Given the description of an element on the screen output the (x, y) to click on. 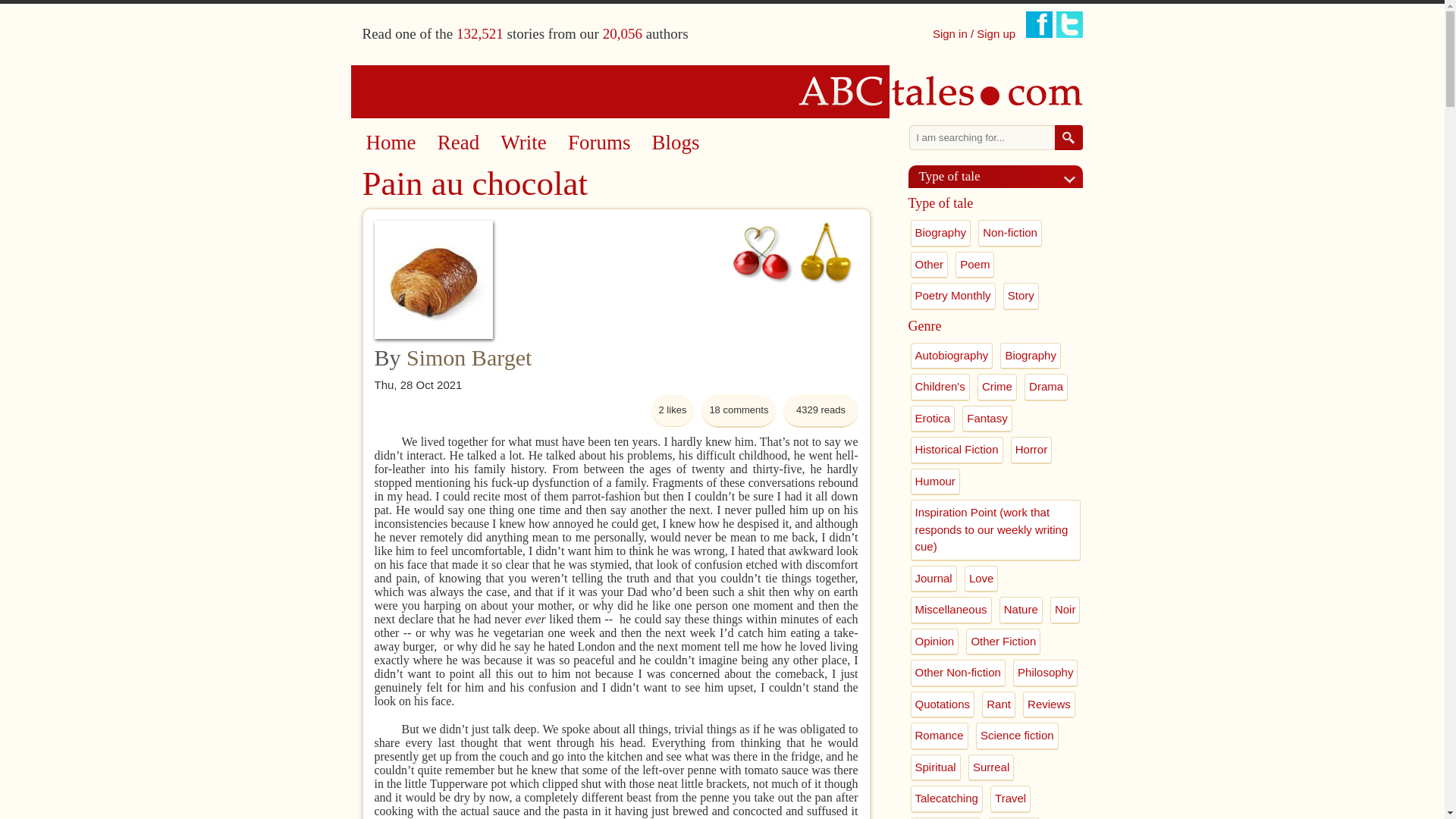
Write (523, 142)
Gold cherry (825, 252)
Blogs (676, 142)
Pick of the Month (761, 252)
Home (389, 142)
Simon Barget (468, 357)
Forums (598, 142)
Home (722, 91)
Read (458, 142)
